Given the description of an element on the screen output the (x, y) to click on. 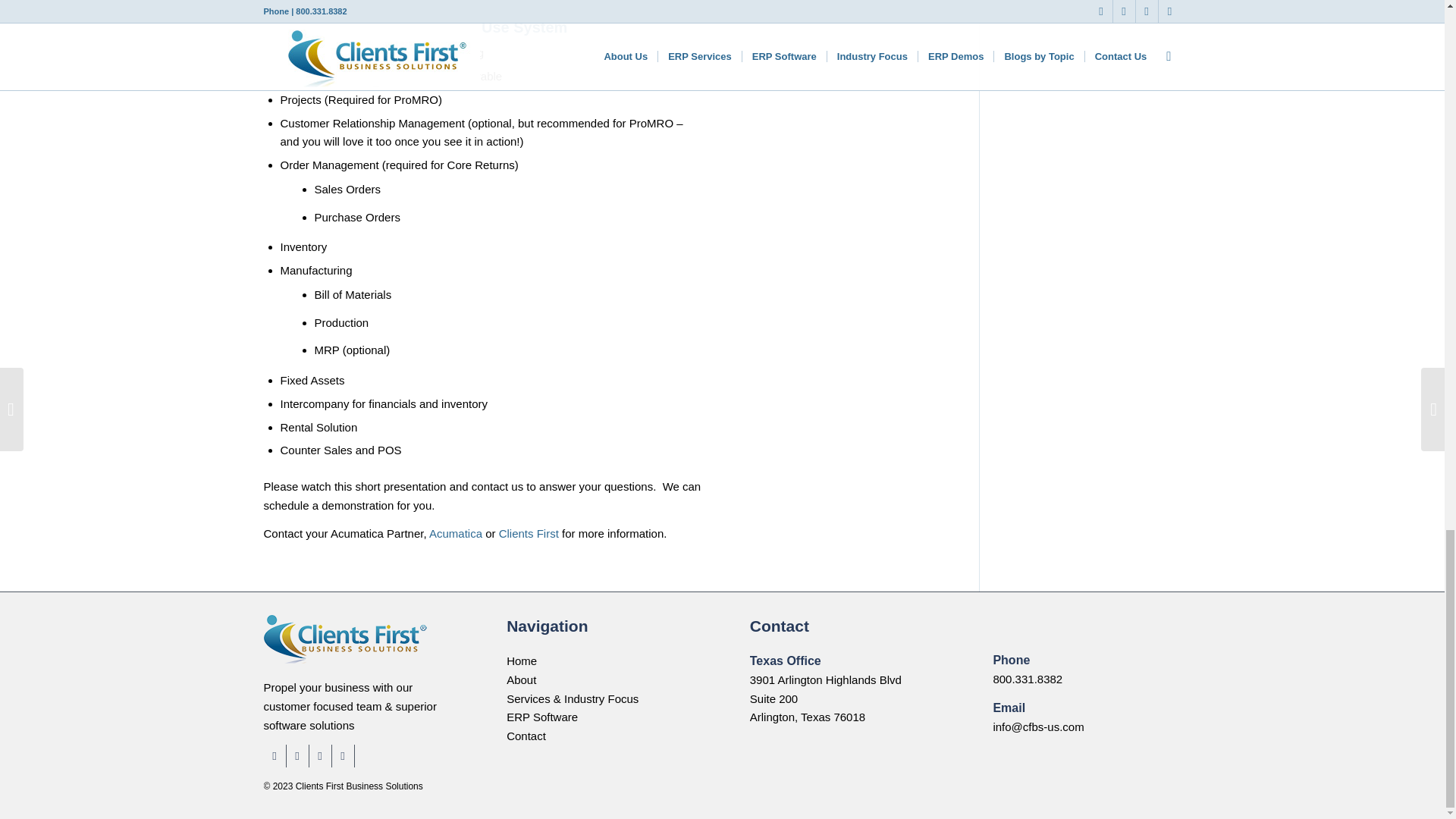
LinkedIn (297, 755)
Twitter (319, 755)
Youtube (342, 755)
Facebook (274, 755)
